Given the description of an element on the screen output the (x, y) to click on. 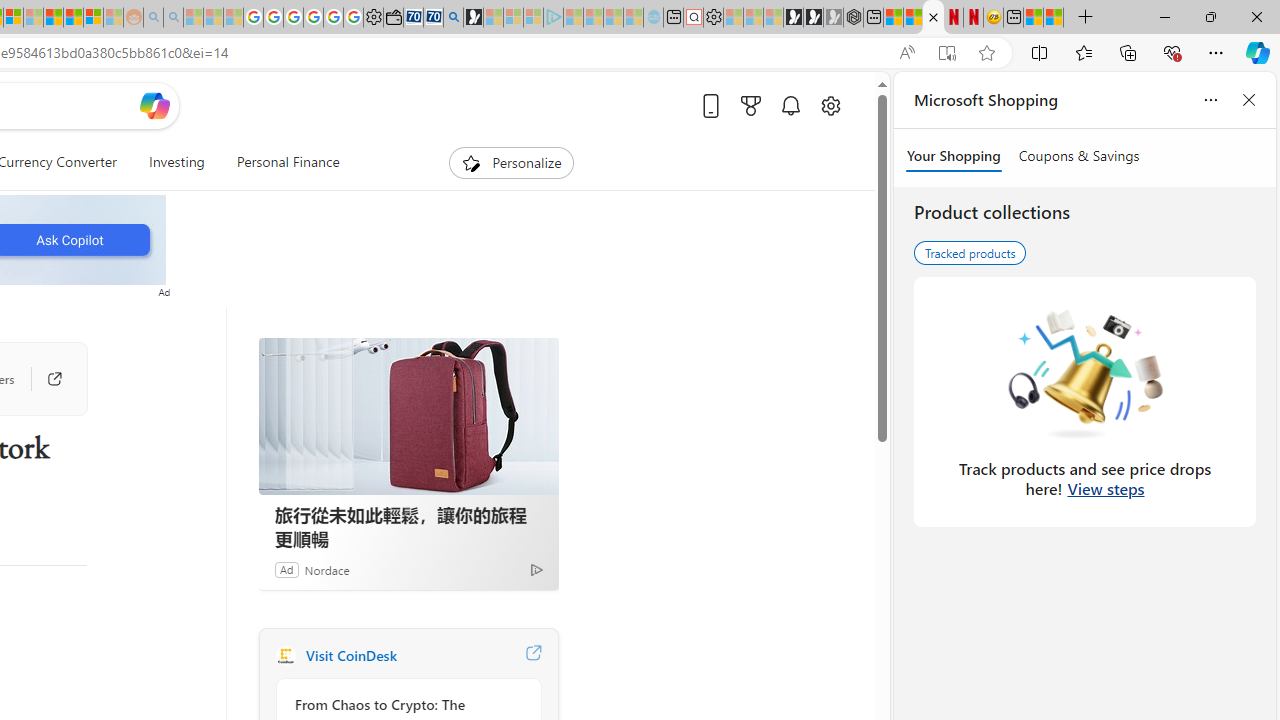
CoinDesk (285, 655)
Personal Finance (287, 162)
